Given the description of an element on the screen output the (x, y) to click on. 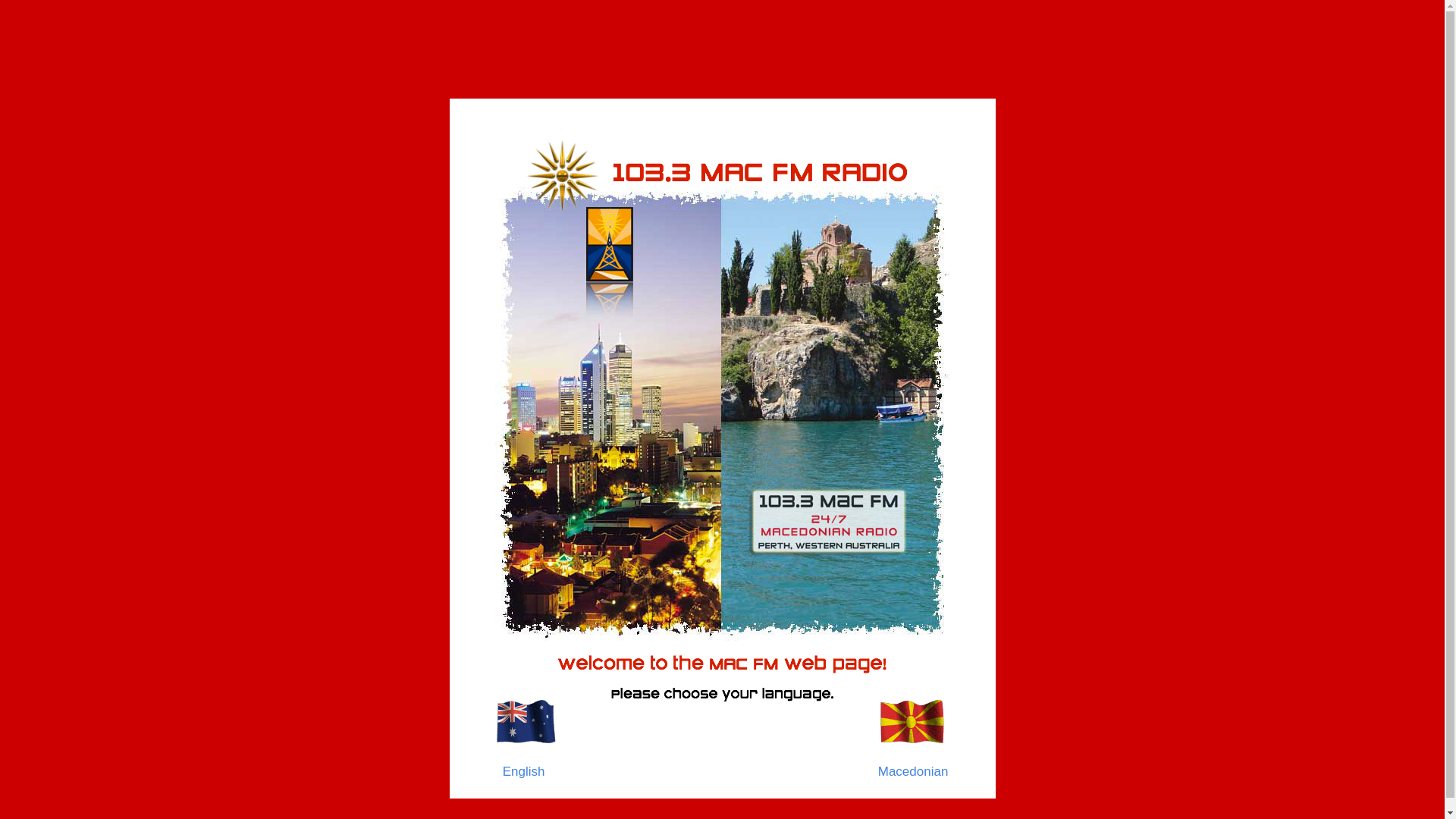
Macedonian Element type: text (913, 771)
English Element type: text (523, 771)
